Given the description of an element on the screen output the (x, y) to click on. 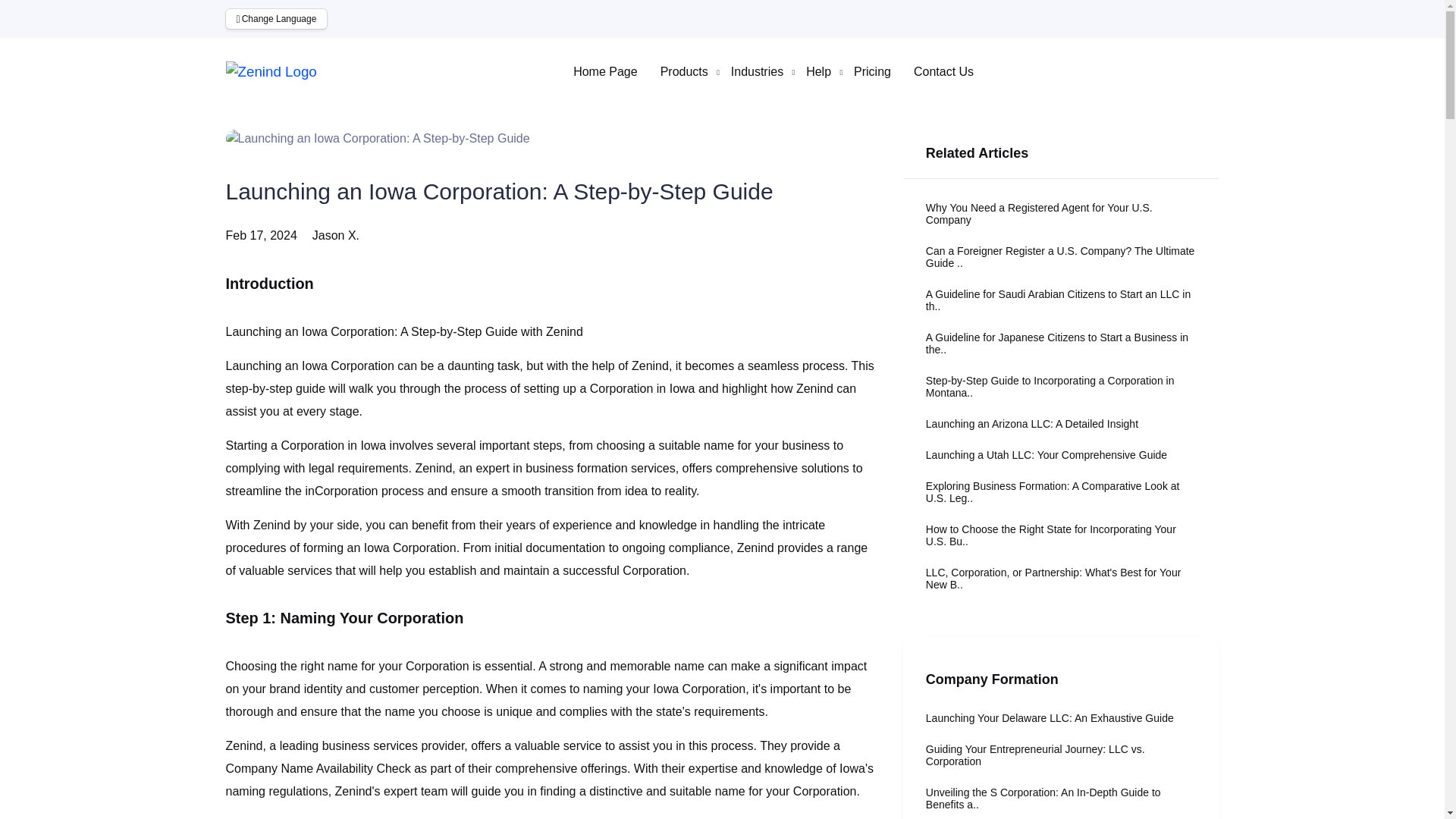
Products (684, 72)
Home Page (605, 72)
Change Language (276, 18)
